Given the description of an element on the screen output the (x, y) to click on. 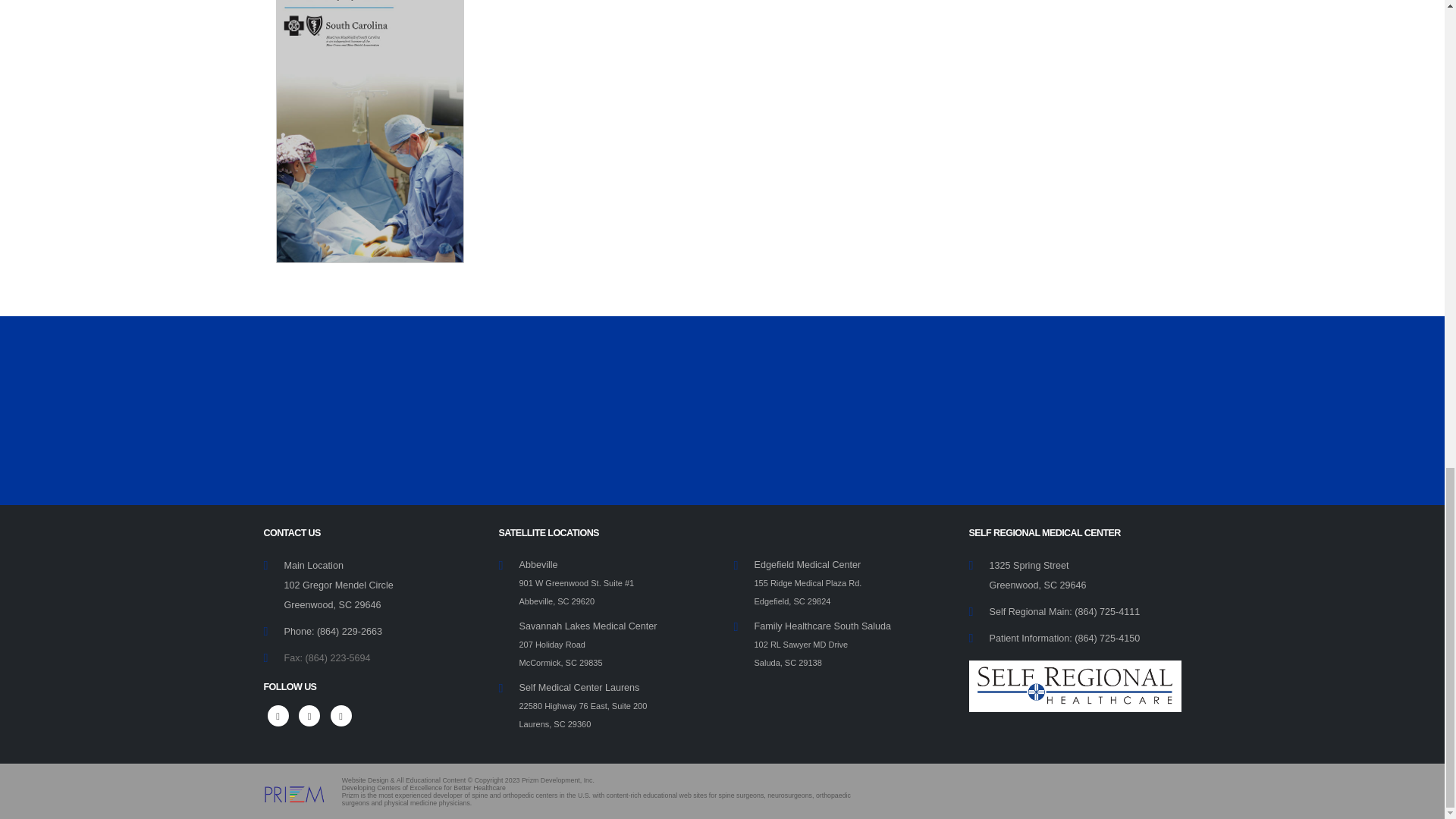
Facebook (277, 715)
Twitter (309, 715)
Instagram (341, 715)
